Given the description of an element on the screen output the (x, y) to click on. 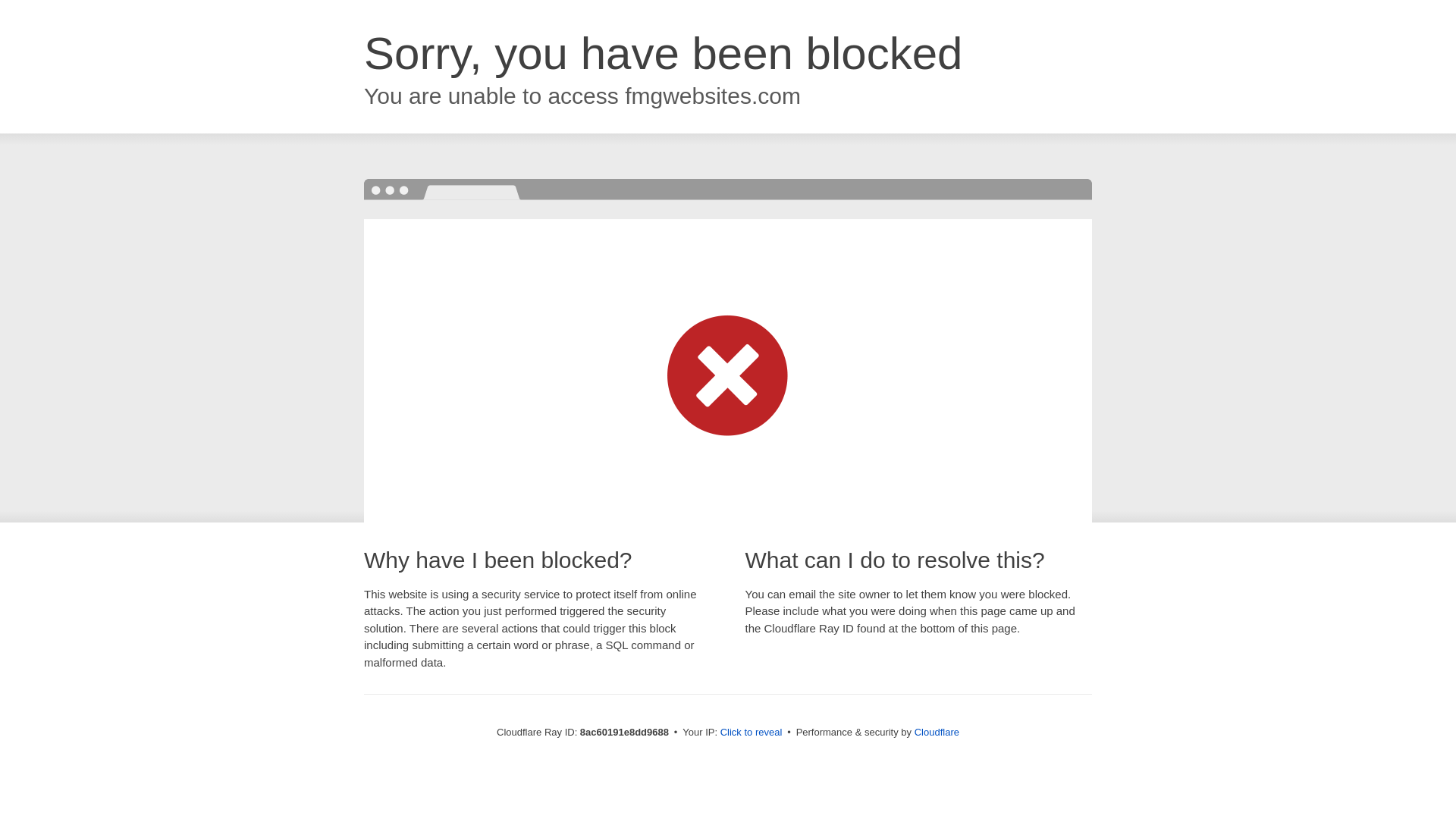
Cloudflare (936, 731)
Click to reveal (751, 732)
